Given the description of an element on the screen output the (x, y) to click on. 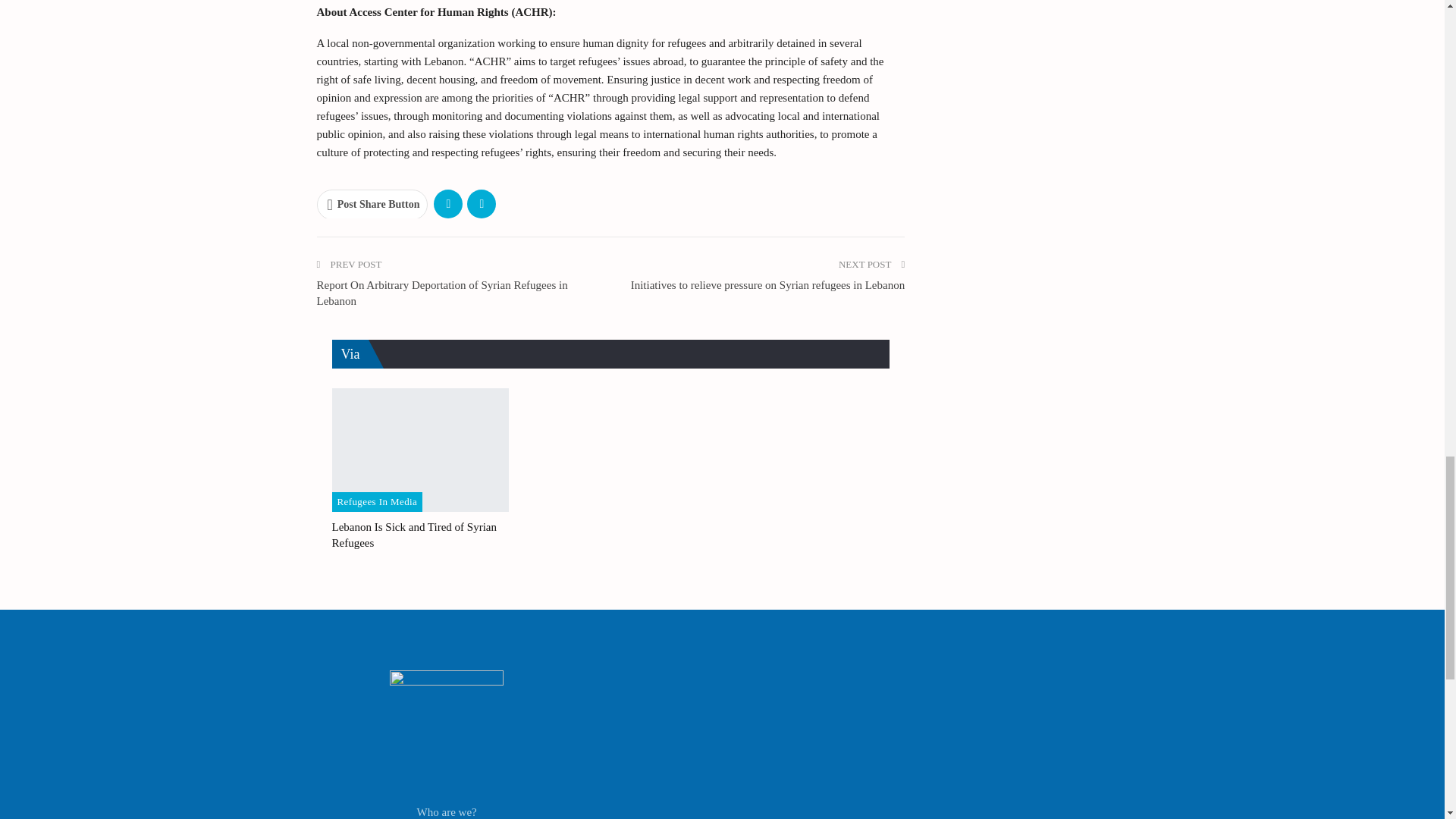
Lebanon Is Sick and Tired of Syrian Refugees (413, 534)
Lebanon Is Sick and Tired of Syrian Refugees (419, 449)
